Given the description of an element on the screen output the (x, y) to click on. 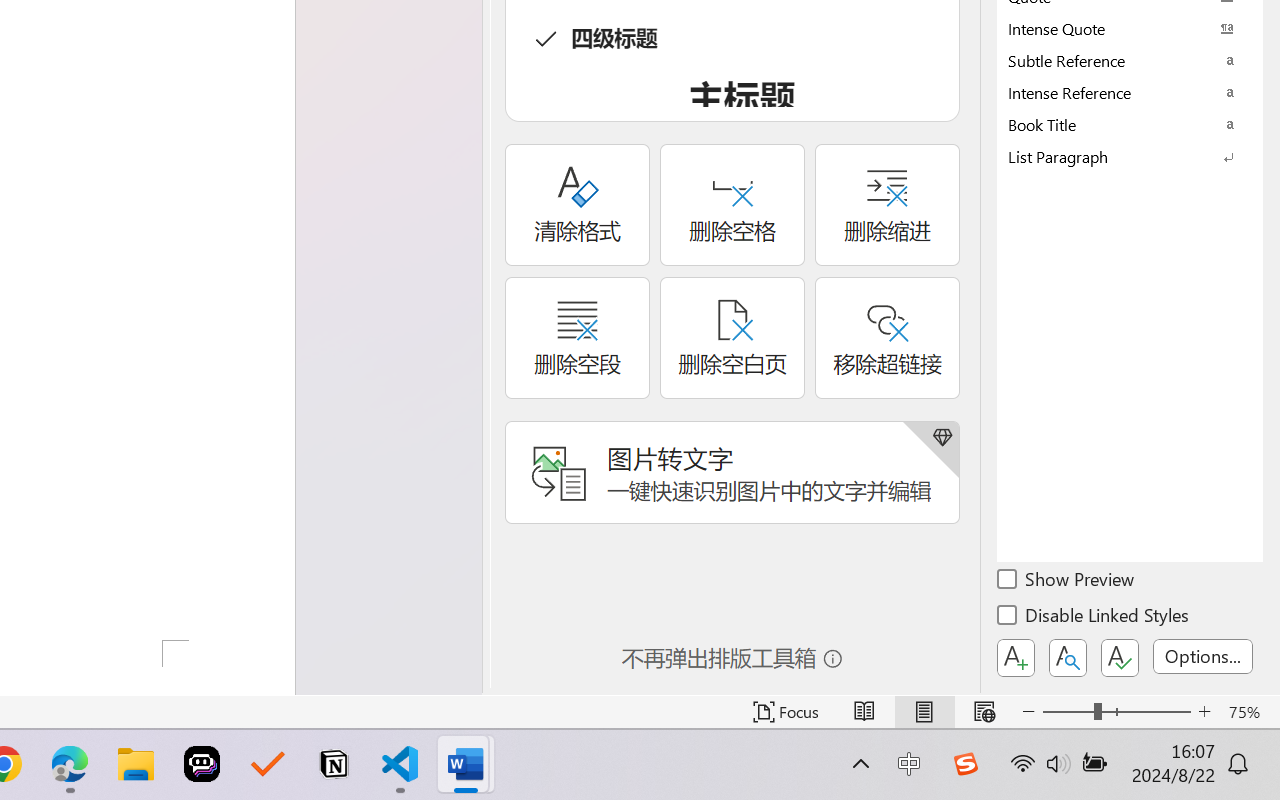
Intense Quote (1130, 28)
Disable Linked Styles (1094, 618)
Subtle Reference (1130, 60)
Show Preview (1067, 582)
Focus  (786, 712)
Class: NetUIButton (1119, 657)
Book Title (1130, 124)
Web Layout (984, 712)
Zoom In (1204, 712)
